Given the description of an element on the screen output the (x, y) to click on. 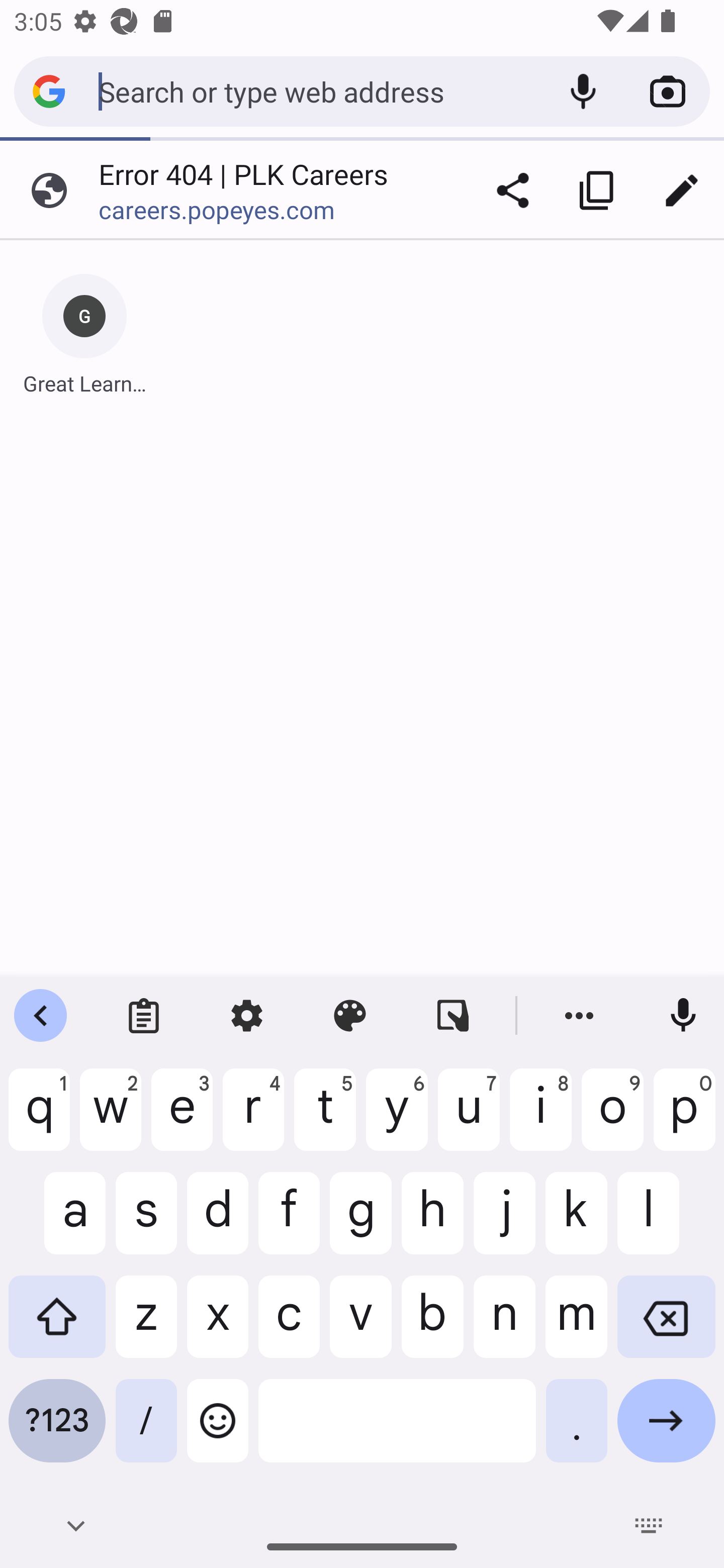
Start voice search (582, 91)
Search with your camera using Google Lens (667, 91)
Search or type web address (319, 90)
Error 404 | PLK Careers careers.popeyes.com (235, 190)
Share… (512, 190)
Copy link (597, 190)
Edit (681, 190)
